Given the description of an element on the screen output the (x, y) to click on. 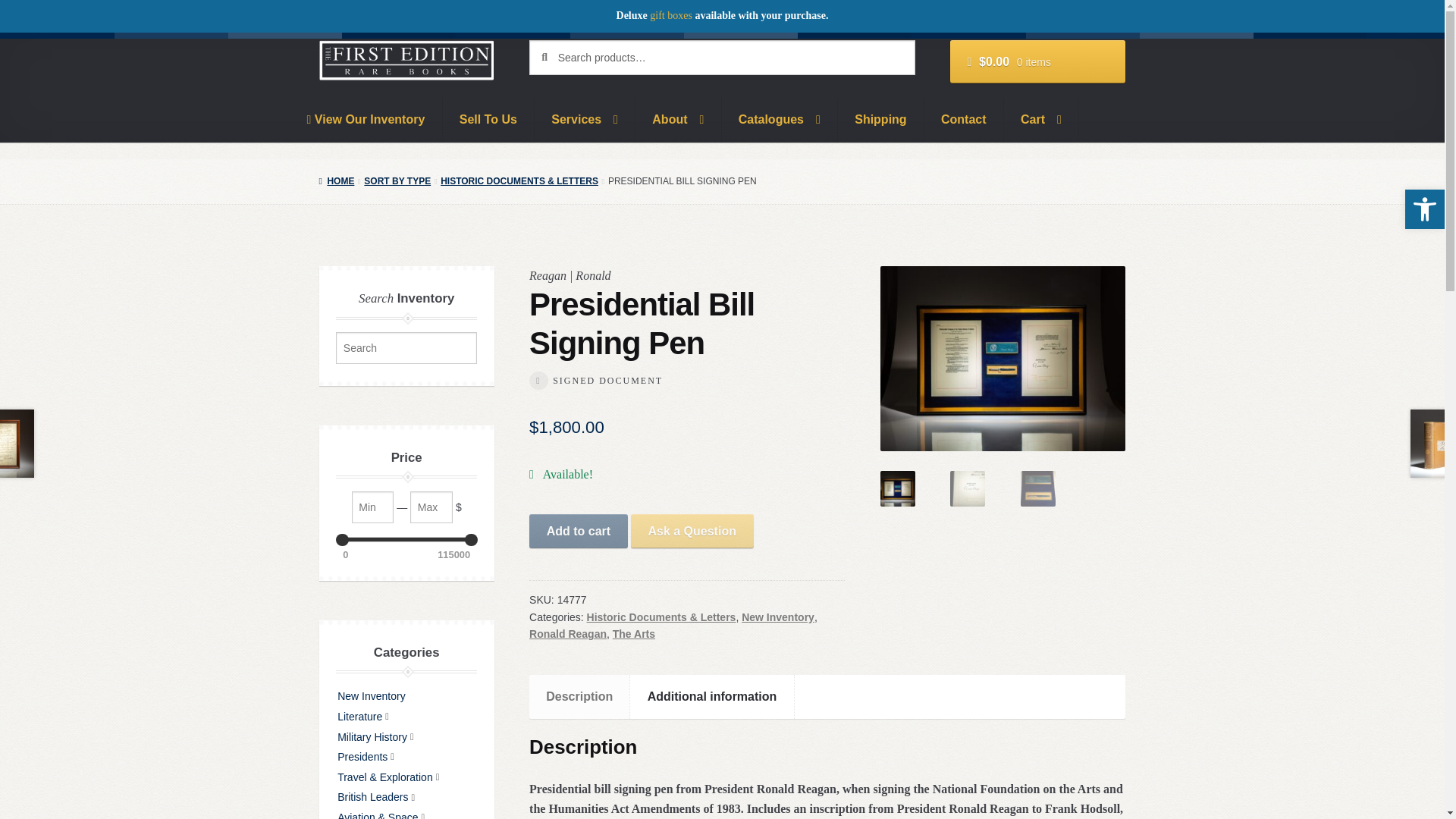
Catalogues (780, 119)
About (677, 119)
gift boxes (671, 15)
Cart (1041, 119)
Contact (964, 119)
Sell To Us (488, 119)
View Our Inventory (365, 119)
Shipping (881, 119)
Services (584, 119)
Accessibility Tools (1424, 209)
View your shopping cart (1037, 62)
